Given the description of an element on the screen output the (x, y) to click on. 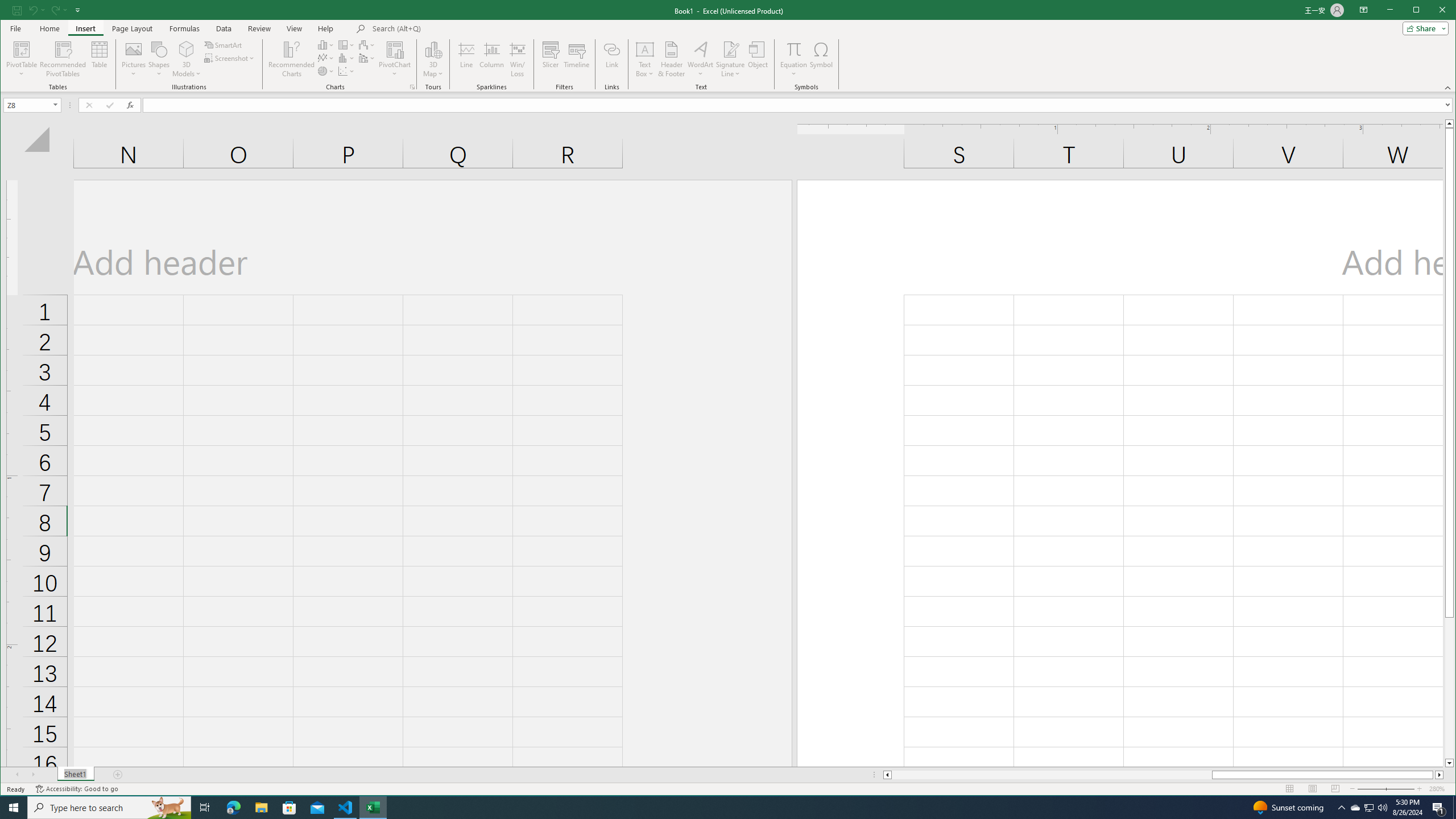
Action Center, 1 new notification (1439, 807)
3D Models (186, 48)
Recommended Charts (411, 86)
Sheet Tab (75, 774)
User Promoted Notification Area (1368, 807)
Equation (793, 59)
Pictures (133, 59)
Insert Statistic Chart (346, 57)
